Given the description of an element on the screen output the (x, y) to click on. 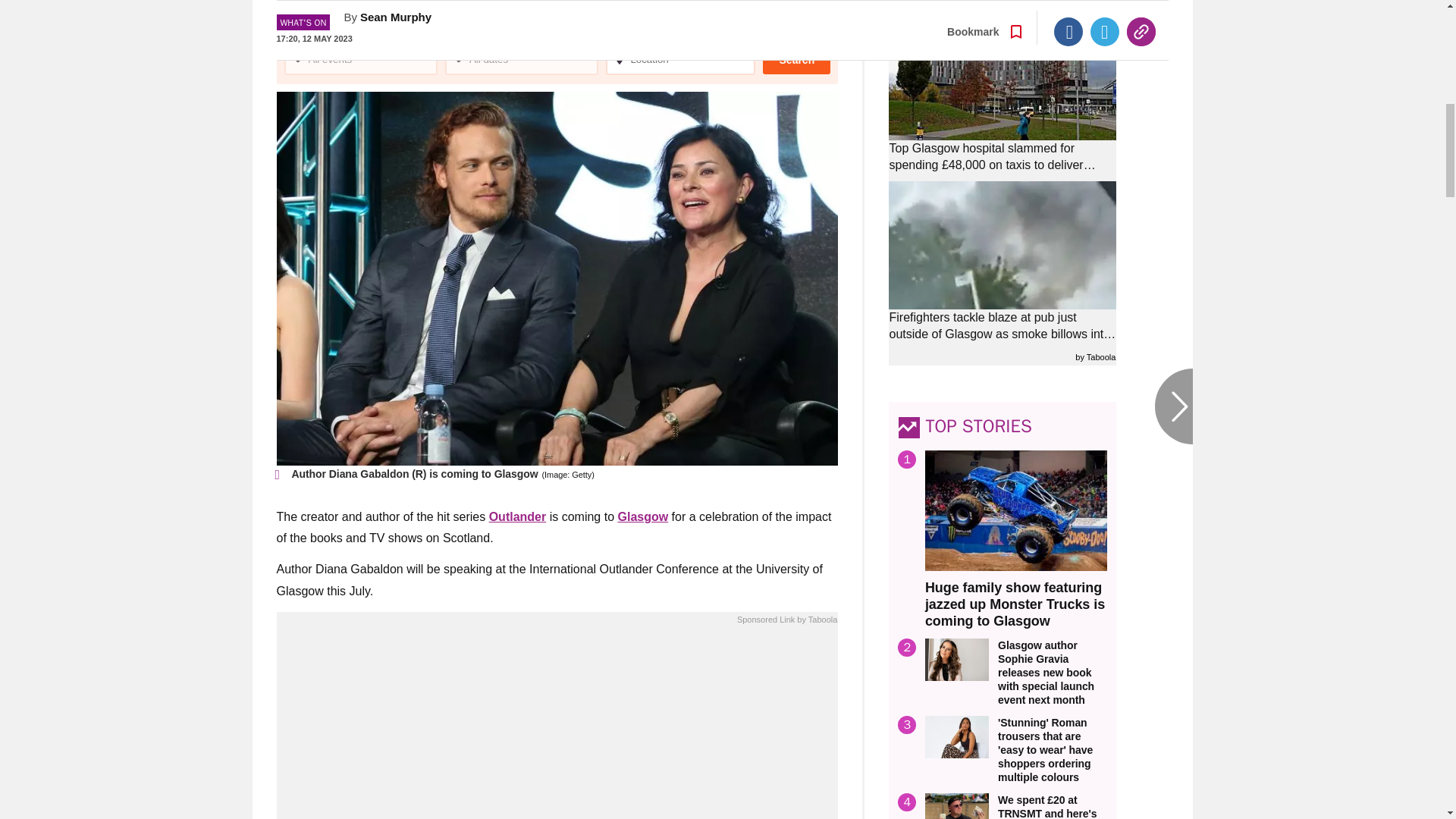
The best IPO stock pick of 2016? (557, 726)
